Given the description of an element on the screen output the (x, y) to click on. 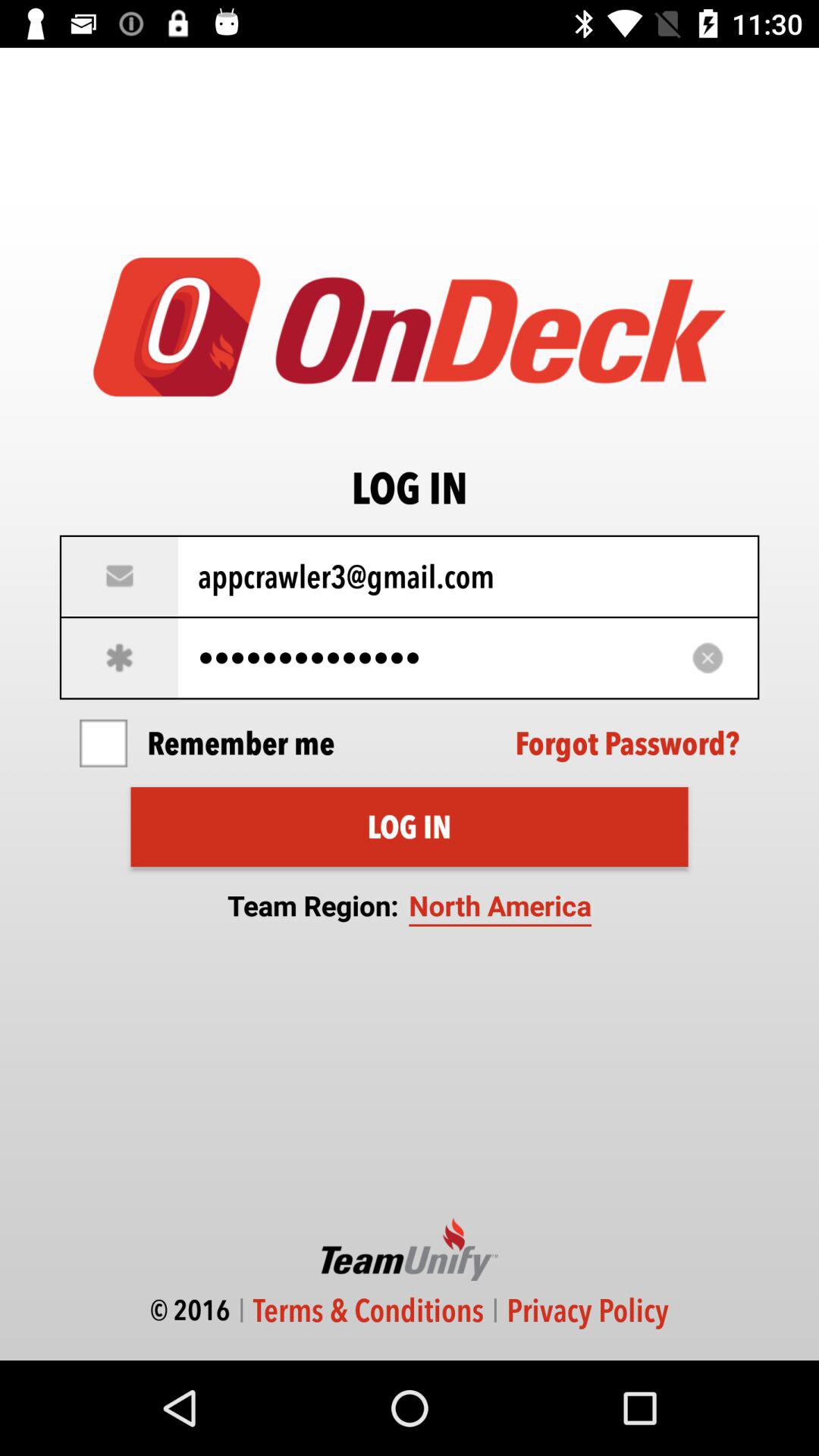
select remember login opton (103, 743)
